Given the description of an element on the screen output the (x, y) to click on. 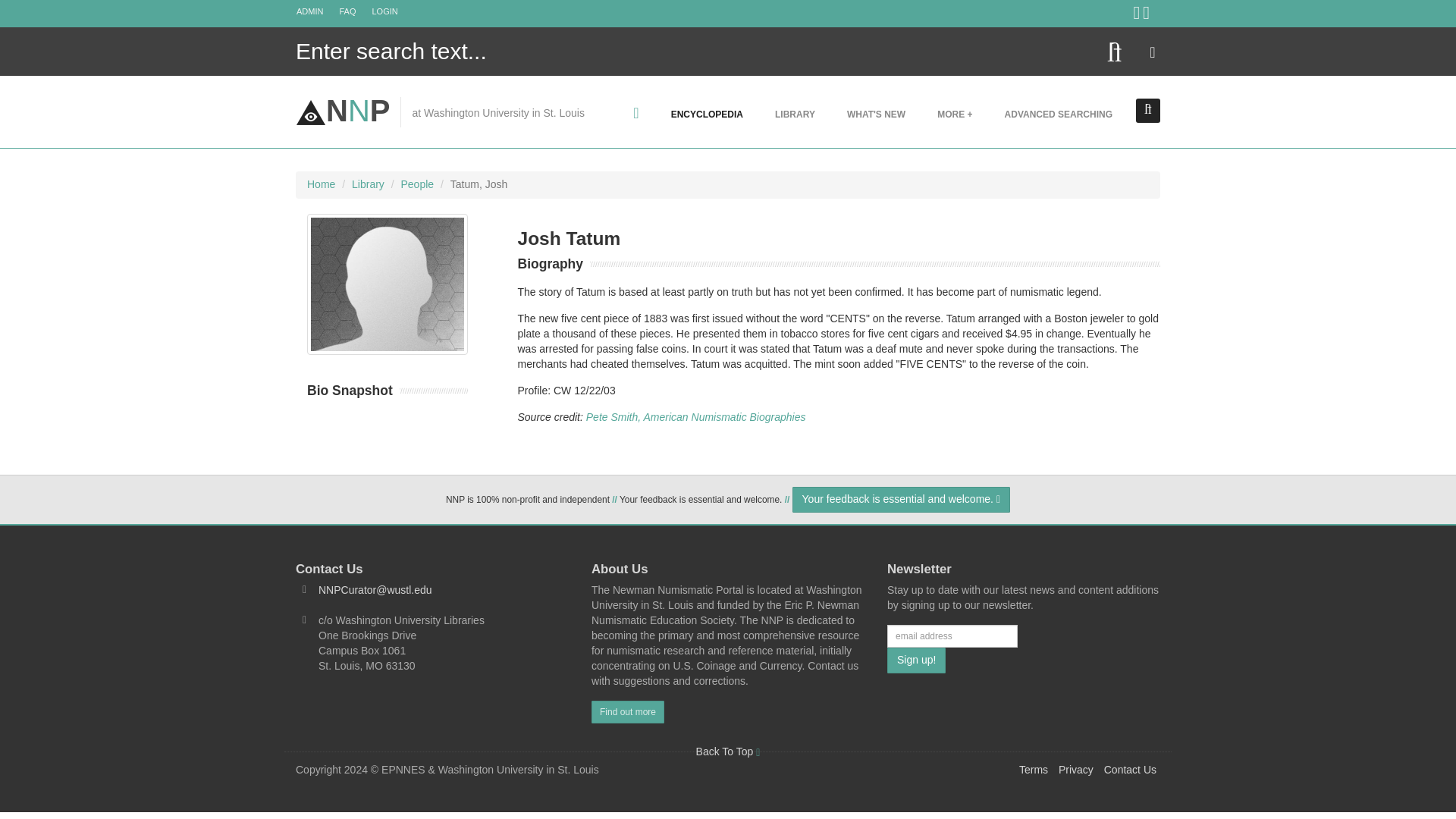
ADVANCED SEARCHING (1058, 113)
Home (320, 184)
ADMIN (317, 11)
Home (342, 110)
LIBRARY (794, 113)
Sign up! (915, 660)
LOGIN (392, 11)
ENCYCLOPEDIA (706, 113)
WHAT'S NEW (876, 113)
NNP (342, 110)
Back to top (727, 751)
FAQ (354, 11)
